Given the description of an element on the screen output the (x, y) to click on. 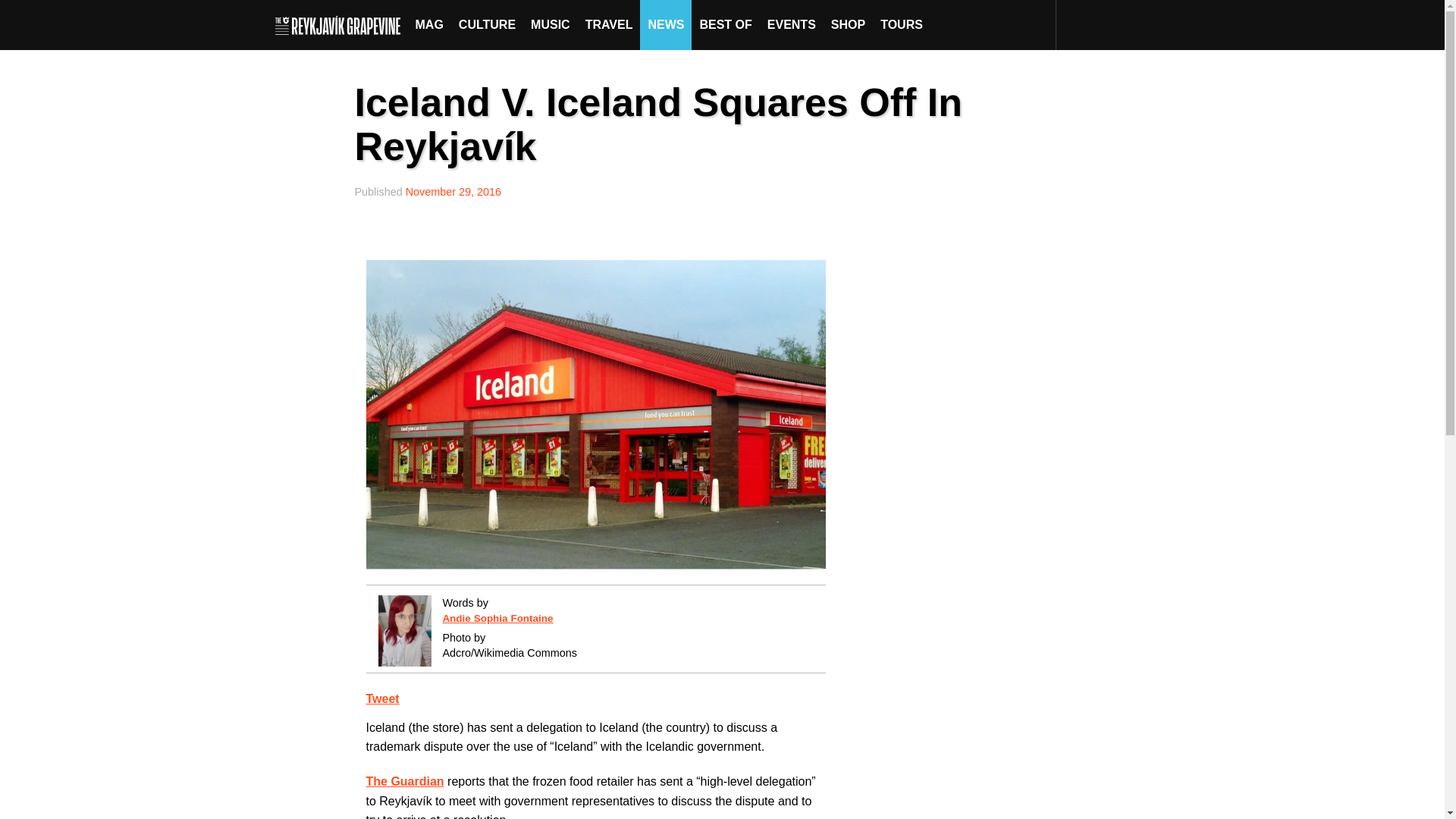
SHOP (848, 24)
Posts by Andie Sophia Fontaine (497, 618)
Andie Sophia Fontaine (497, 618)
CULTURE (486, 24)
TOURS (901, 24)
EVENTS (792, 24)
MUSIC (550, 24)
The Reykjavik Grapevine (341, 24)
NEWS (665, 24)
Tweet (381, 698)
The Guardian (404, 780)
BEST OF (724, 24)
TRAVEL (609, 24)
